Given the description of an element on the screen output the (x, y) to click on. 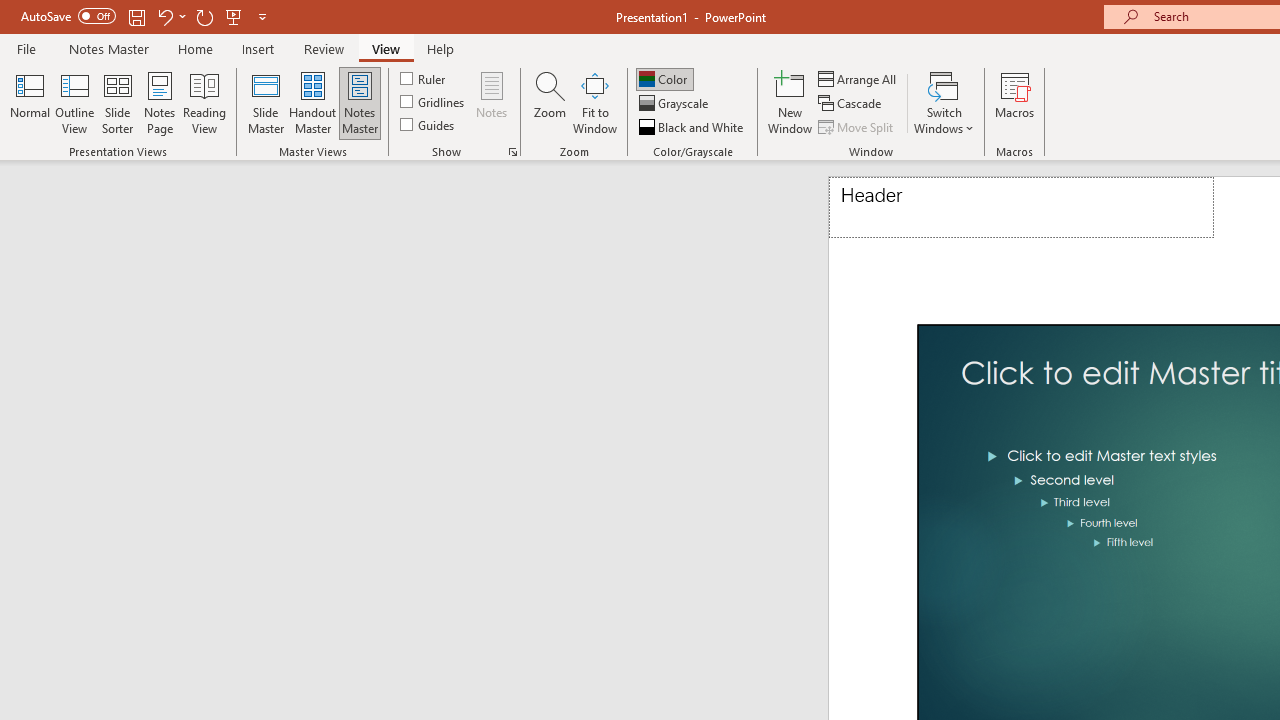
Guides (428, 124)
Black and White (693, 126)
Ruler (423, 78)
Gridlines (433, 101)
Grayscale (675, 103)
Slide Master (265, 102)
Notes Page (159, 102)
Move Split (857, 126)
Macros (1014, 102)
Notes Master (360, 102)
Cascade (851, 103)
